Given the description of an element on the screen output the (x, y) to click on. 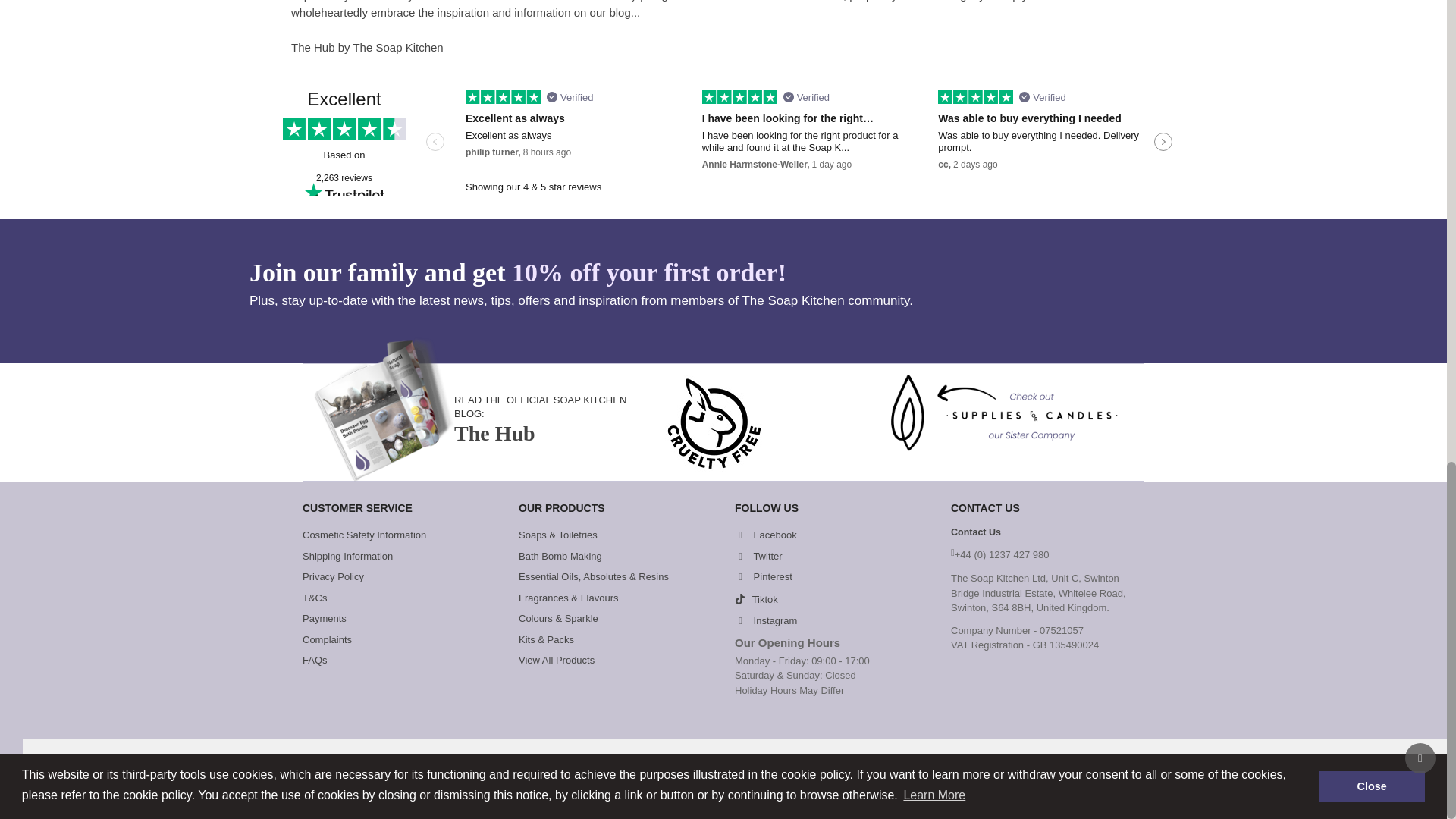
Customer reviews powered by Trustpilot (722, 143)
